Given the description of an element on the screen output the (x, y) to click on. 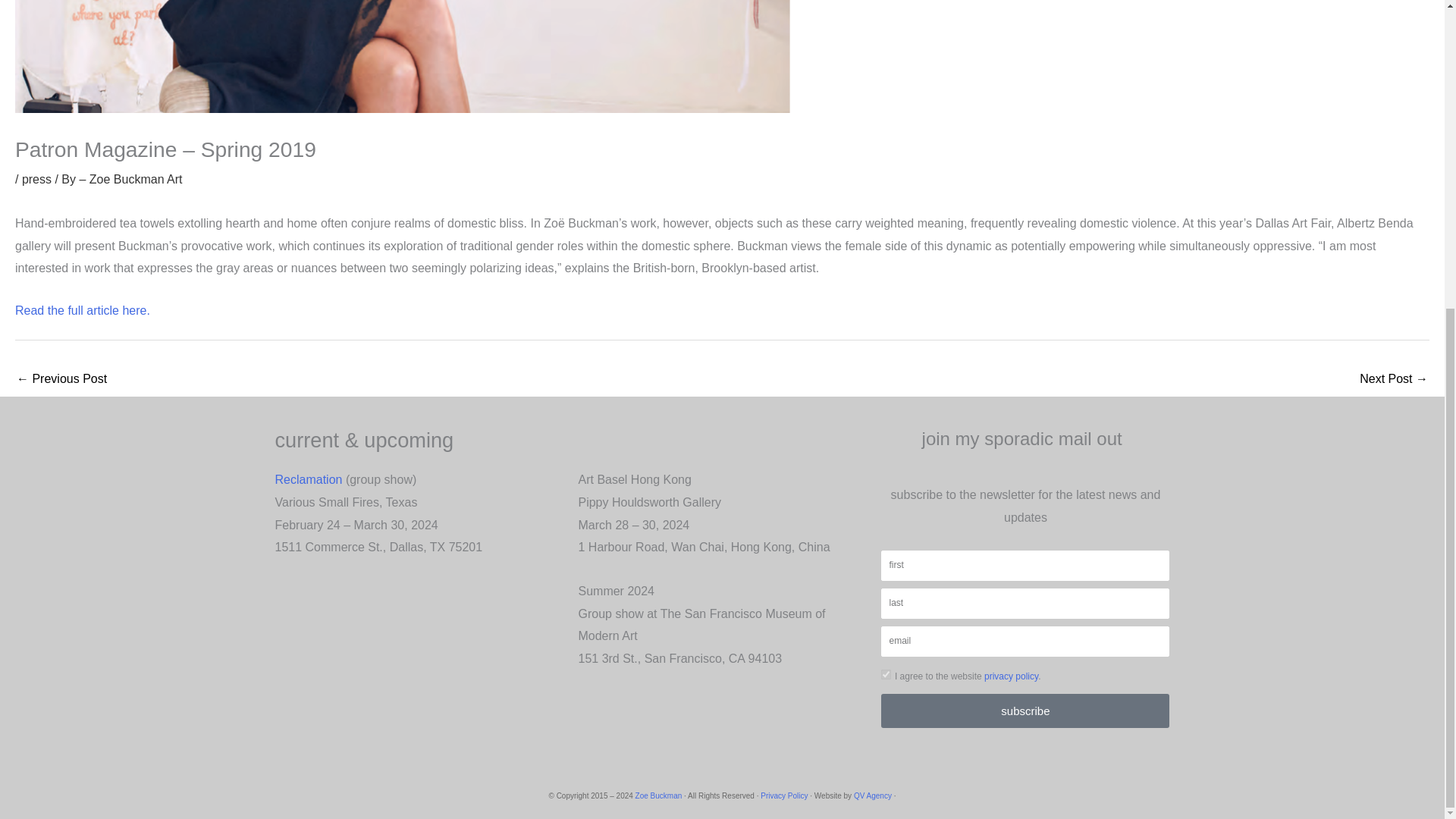
privacy policy (1011, 675)
Zoe Buckman (658, 795)
Page 1 (418, 535)
Read the full article here. (81, 309)
on (885, 674)
subscribe (1024, 710)
Privacy Policy (784, 795)
QV Agency (872, 795)
Reclamation (308, 479)
The New York Times - Spring 2019 (1393, 379)
